Given the description of an element on the screen output the (x, y) to click on. 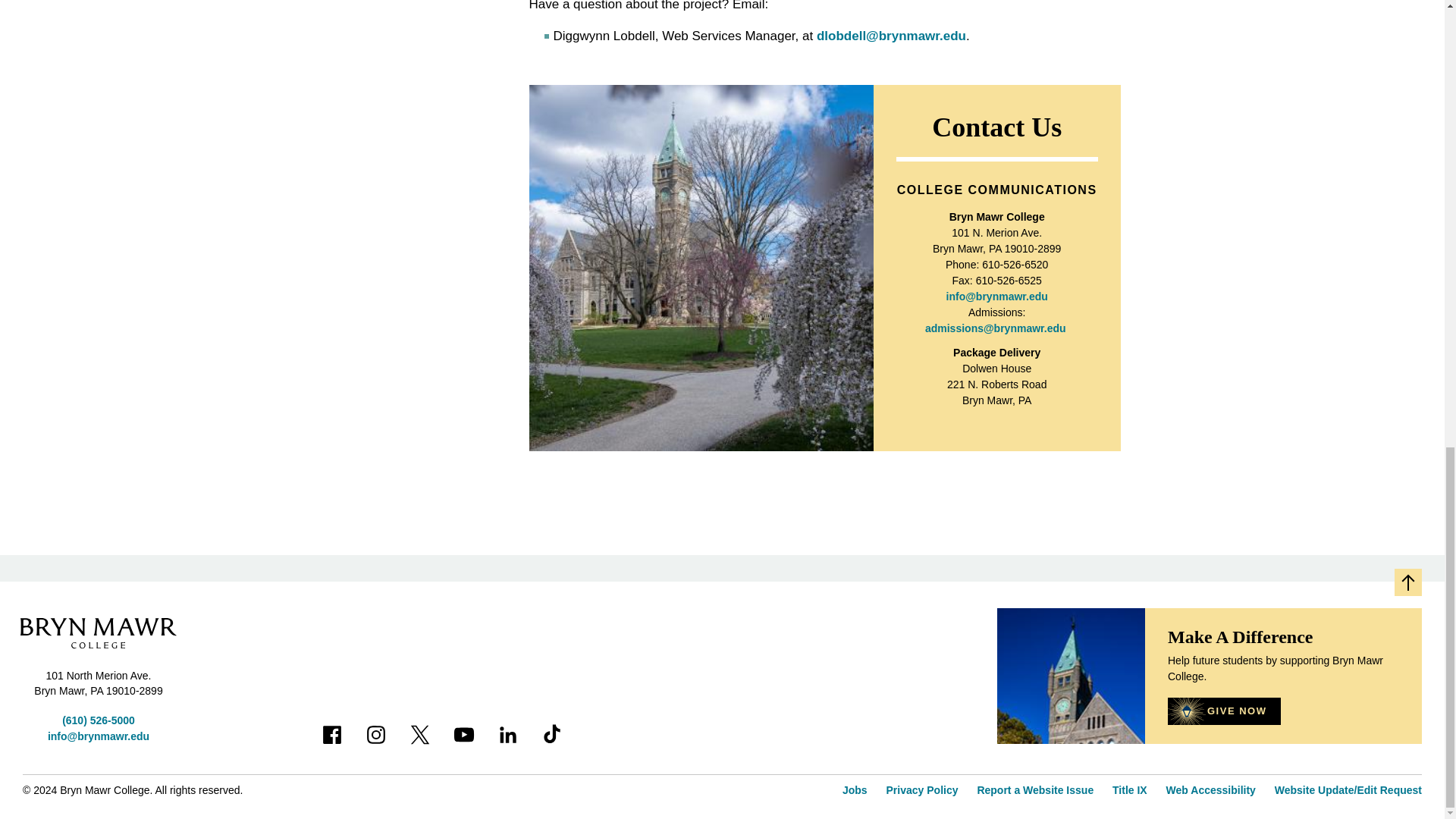
Update link with node (922, 789)
